Given the description of an element on the screen output the (x, y) to click on. 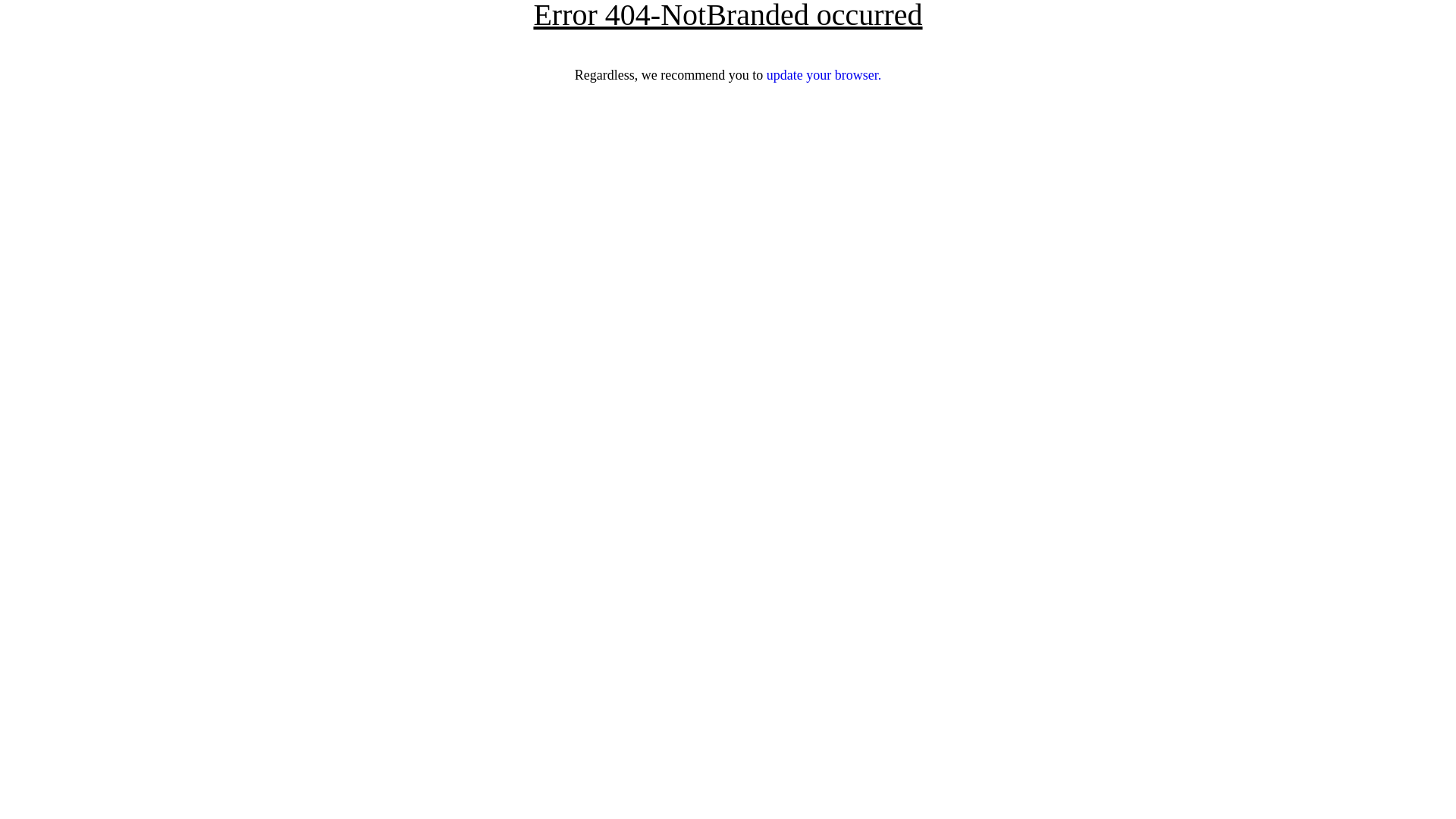
update your browser. Element type: text (823, 74)
